Given the description of an element on the screen output the (x, y) to click on. 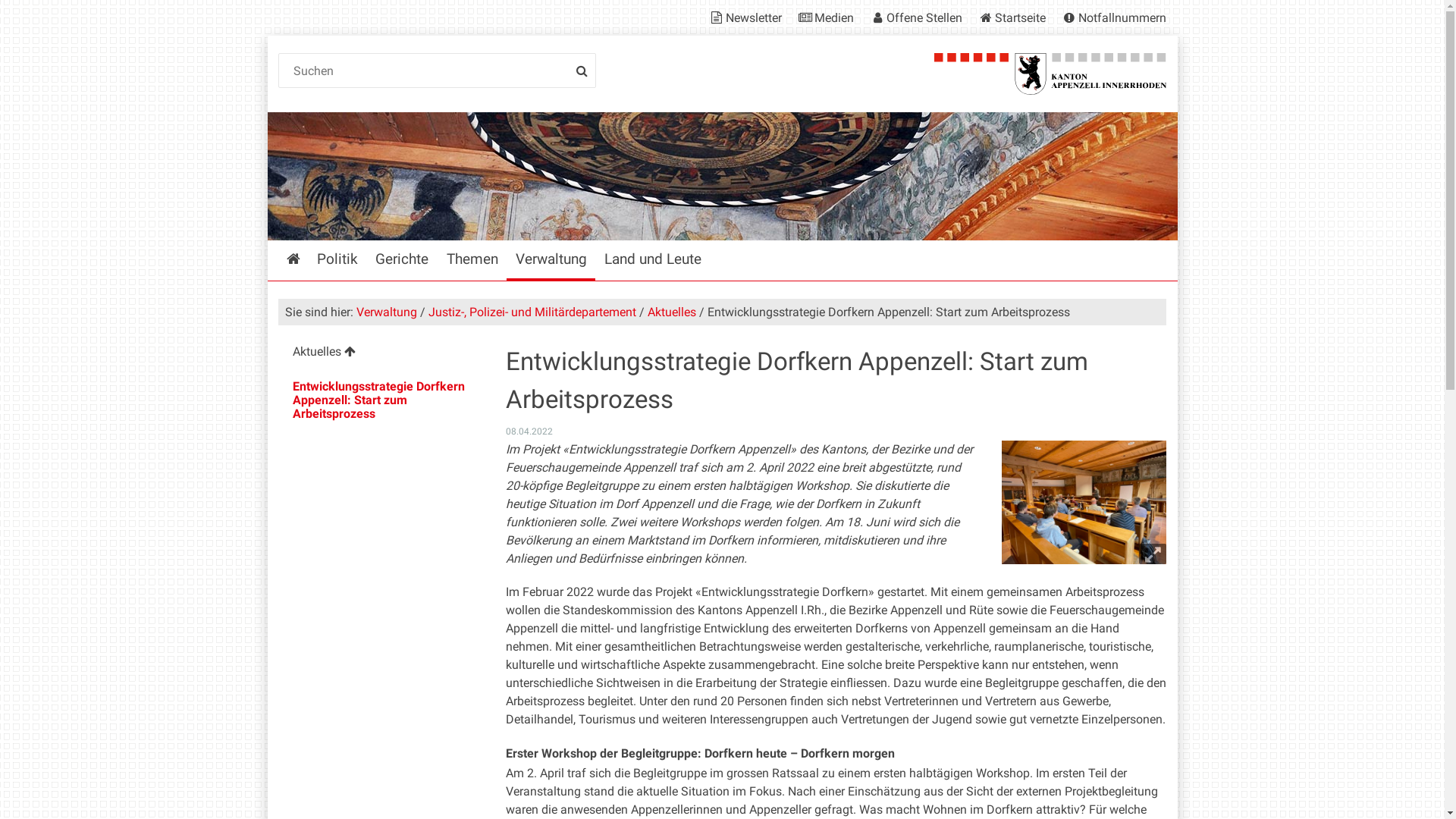
Offene Stellen Element type: text (914, 17)
Politik Element type: text (337, 260)
Notfallnummern Element type: text (1110, 17)
Verwaltung Element type: text (386, 311)
Verwaltung Element type: text (550, 260)
Land und Leute Element type: text (652, 260)
Medien Element type: text (824, 17)
Aktuelles Element type: text (380, 353)
Aktuelles Element type: text (671, 311)
Startseite Element type: text (293, 260)
Themen Element type: text (471, 260)
Newsletter Element type: text (748, 17)
Gerichte Element type: text (402, 260)
Startseite Element type: text (1011, 17)
Suchen Element type: hover (437, 70)
